Given the description of an element on the screen output the (x, y) to click on. 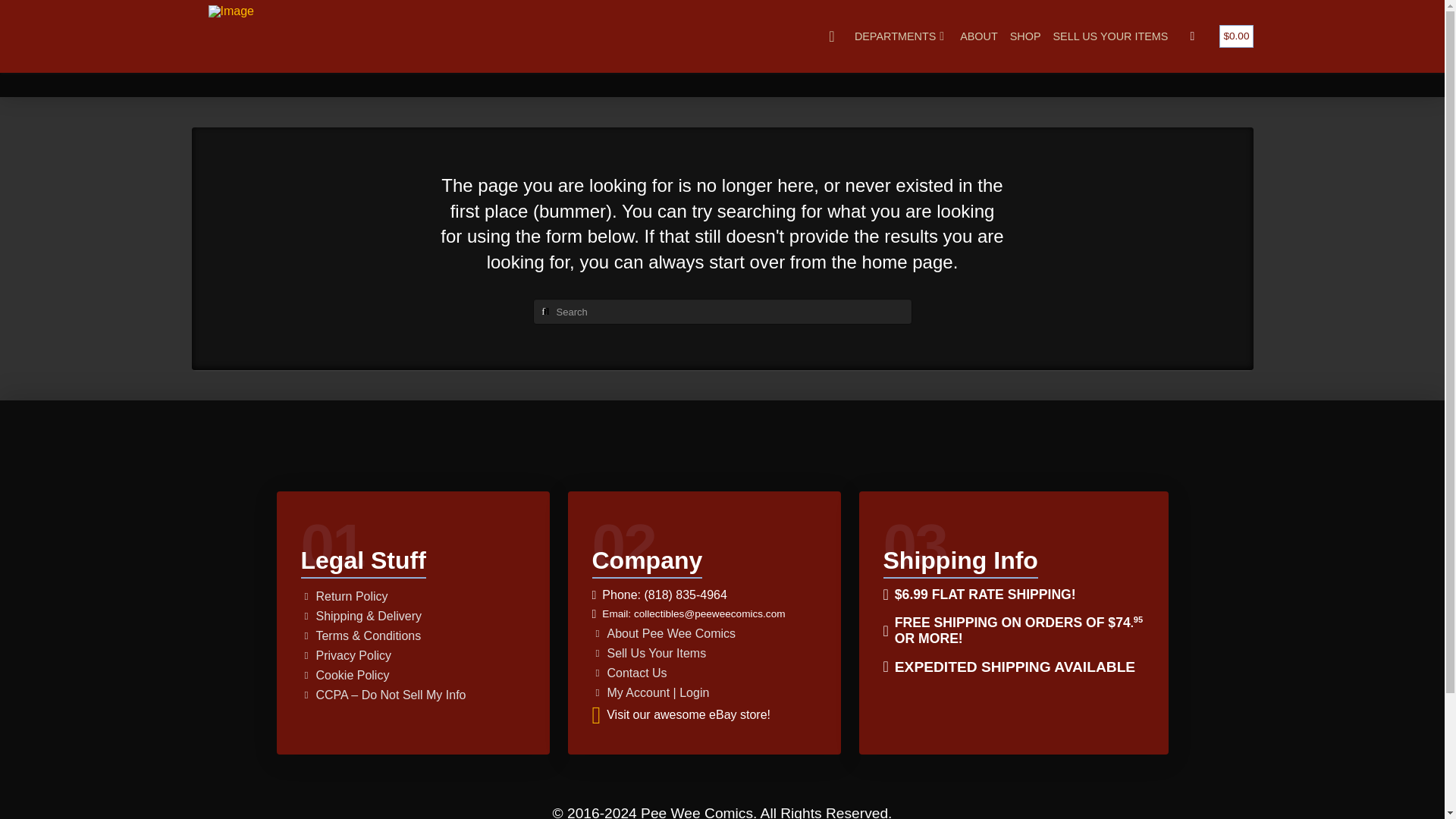
Return Policy (345, 596)
SELL US YOUR ITEMS (1110, 36)
About Pee Wee Comics (665, 633)
Privacy Policy (346, 655)
Sell Us Your Items (650, 653)
Contact Us (630, 673)
DEPARTMENTS (900, 36)
Visit our awesome eBay store! (680, 714)
Cookie Policy (346, 675)
